Given the description of an element on the screen output the (x, y) to click on. 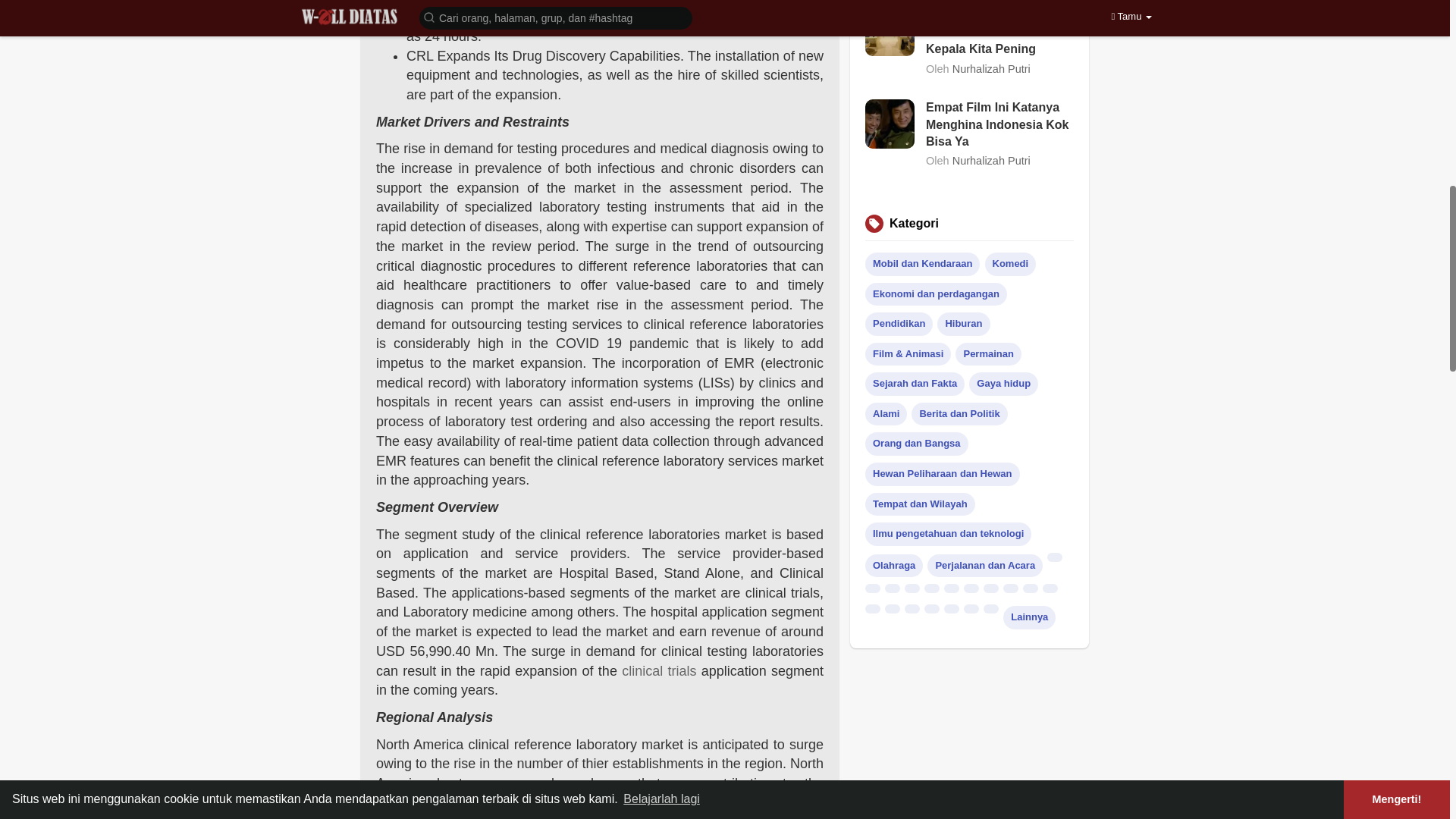
clinical trials (658, 670)
